Given the description of an element on the screen output the (x, y) to click on. 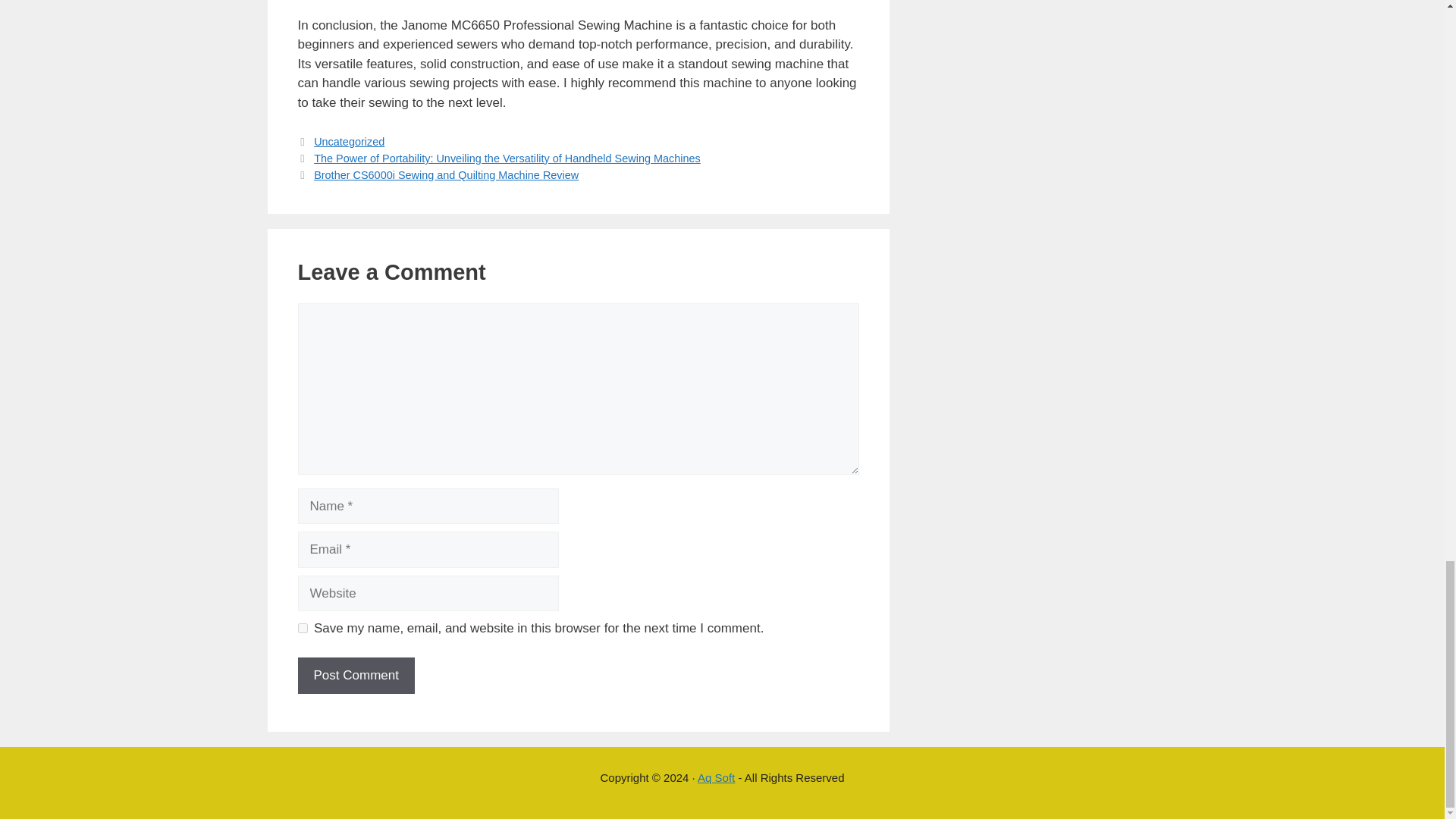
Uncategorized (349, 141)
Brother CS6000i Sewing and Quilting Machine Review (446, 174)
Aq Soft (716, 777)
yes (302, 628)
Post Comment (355, 675)
Post Comment (355, 675)
